Given the description of an element on the screen output the (x, y) to click on. 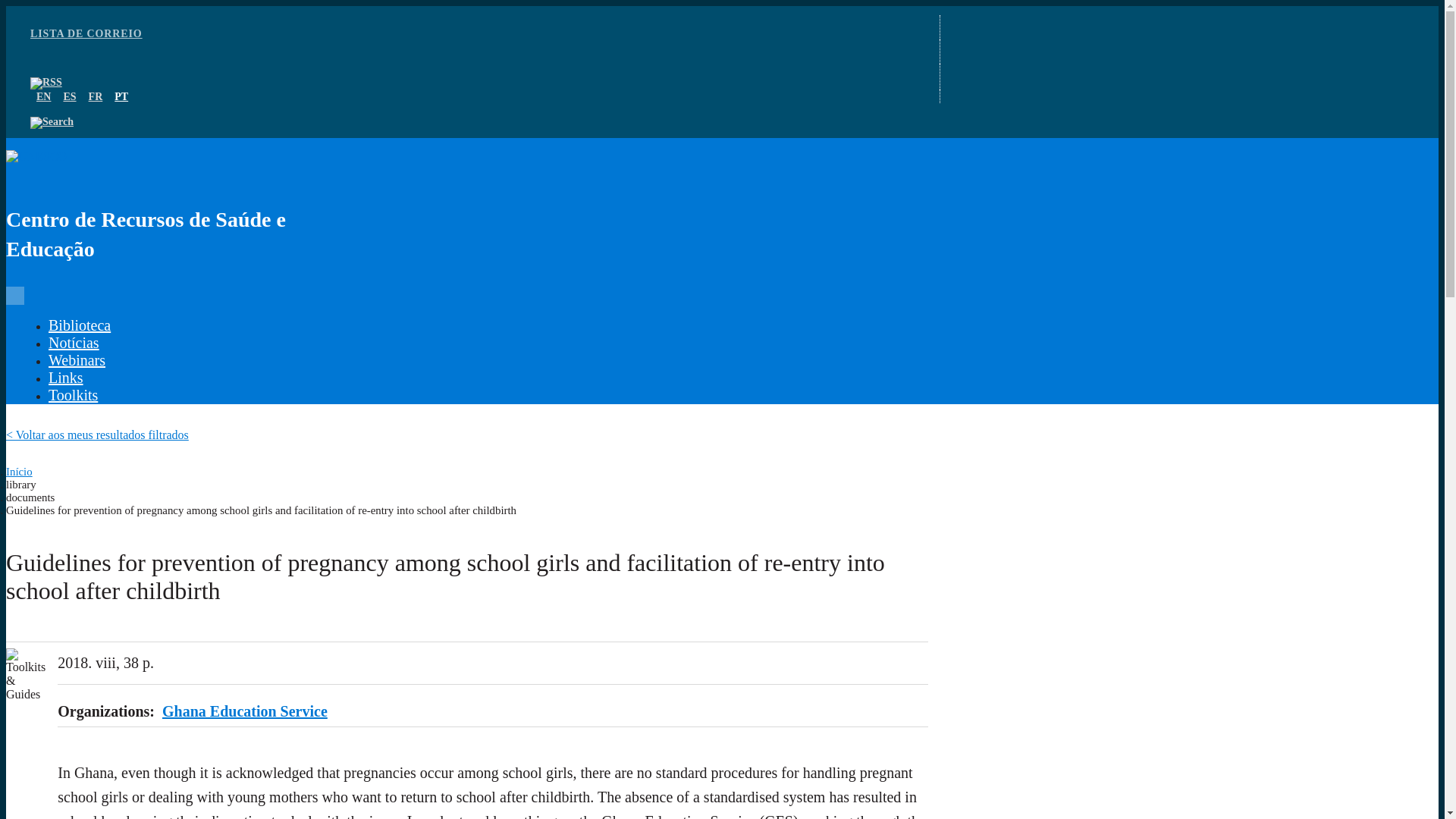
EN (43, 96)
FR (95, 96)
PT (121, 96)
Webinars (76, 360)
Links (65, 377)
ES (68, 96)
LISTA DE CORREIO (86, 33)
Ghana Education Service (244, 710)
Biblioteca (79, 324)
Toolkits (72, 394)
